Given the description of an element on the screen output the (x, y) to click on. 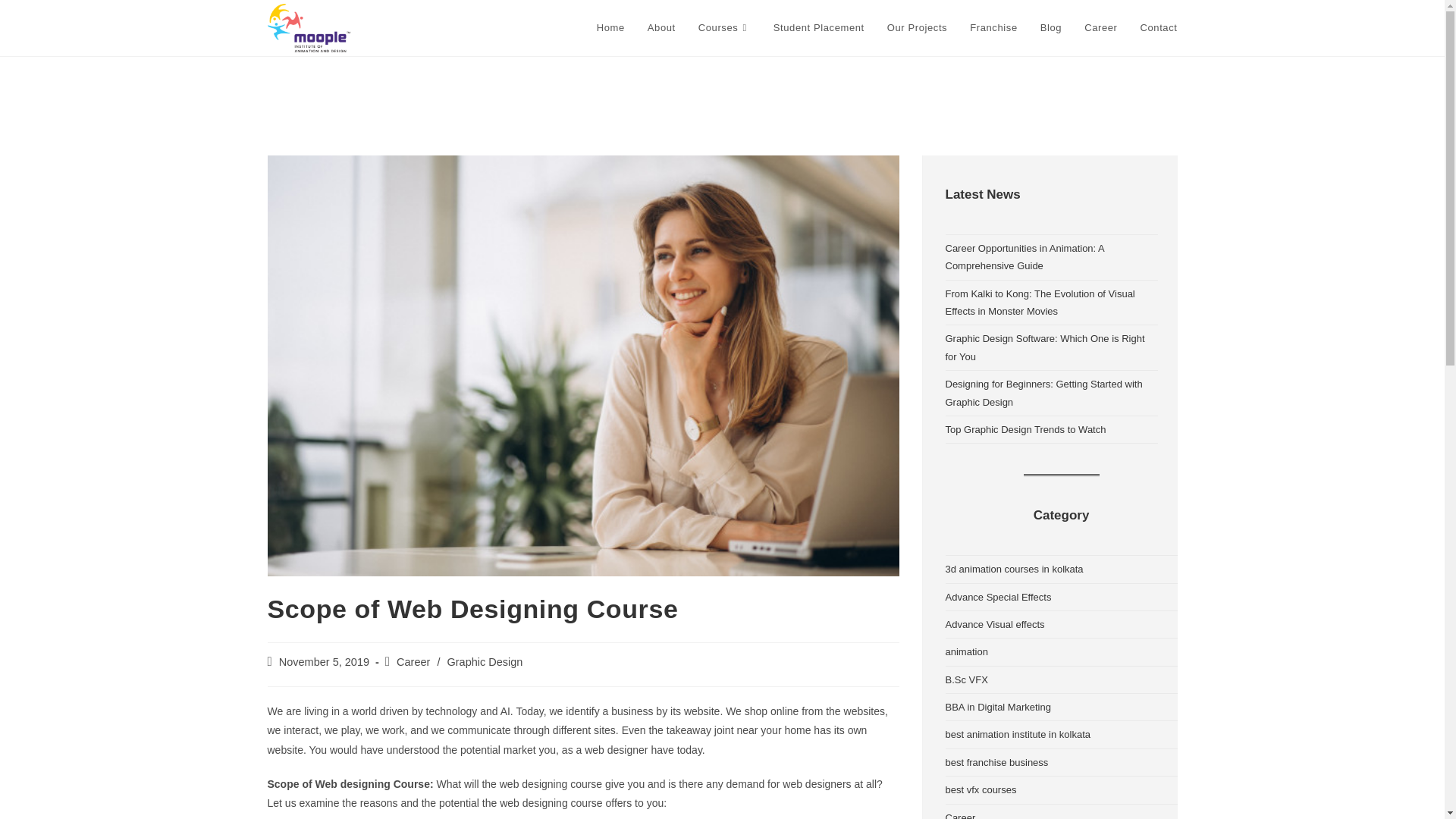
Our Projects (917, 28)
Student Placement (818, 28)
Home (610, 28)
Contact (1158, 28)
About (661, 28)
Courses (724, 28)
Career (1100, 28)
Franchise (992, 28)
Graphic Design (484, 662)
Career (412, 662)
